Given the description of an element on the screen output the (x, y) to click on. 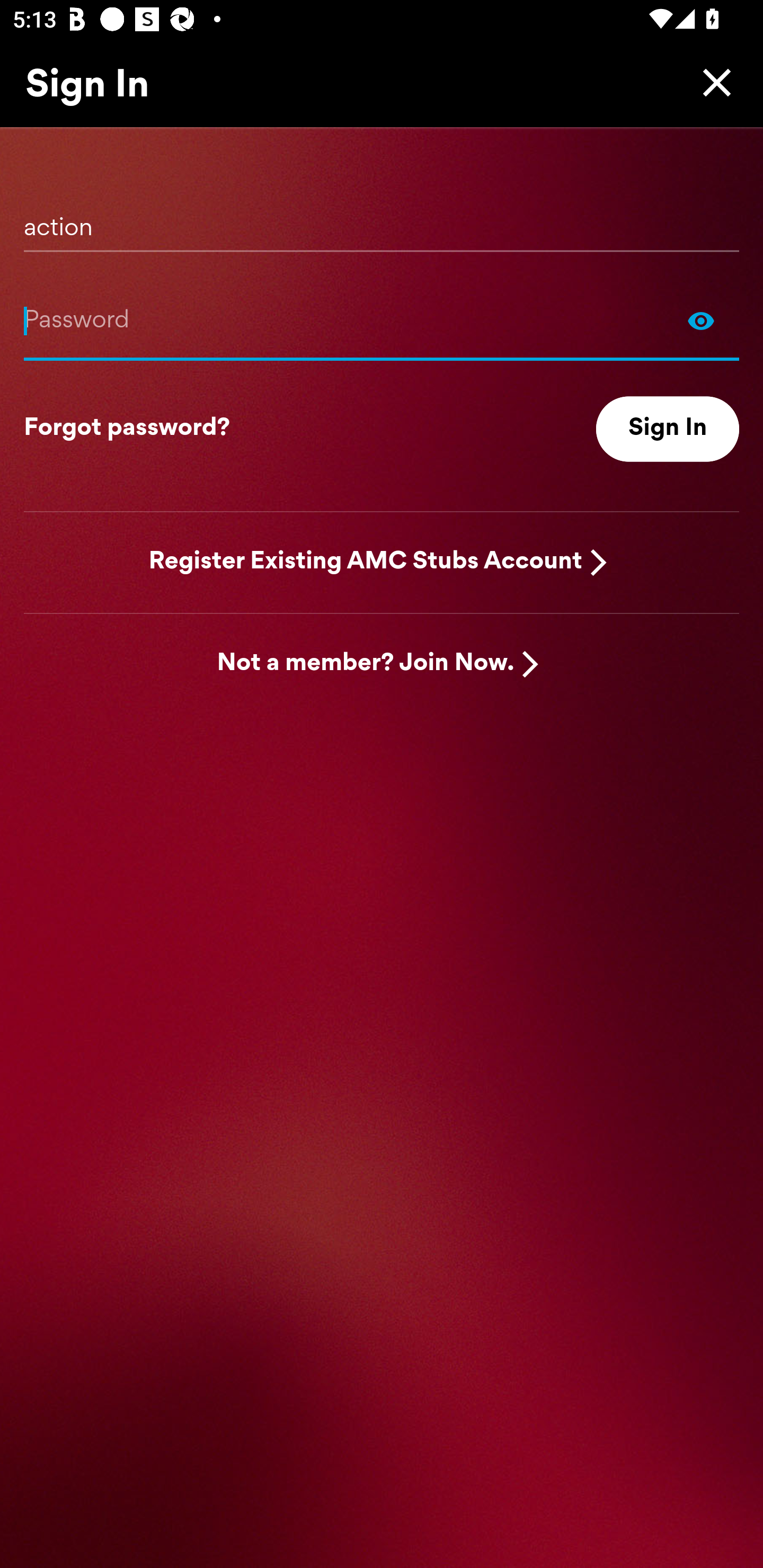
Close (712, 82)
action (381, 220)
Show Password (381, 320)
Show Password (701, 320)
Forgot password? (126, 428)
Sign In (667, 428)
Register Existing AMC Stubs Account (365, 561)
Not a member? Join Now. (365, 663)
